Given the description of an element on the screen output the (x, y) to click on. 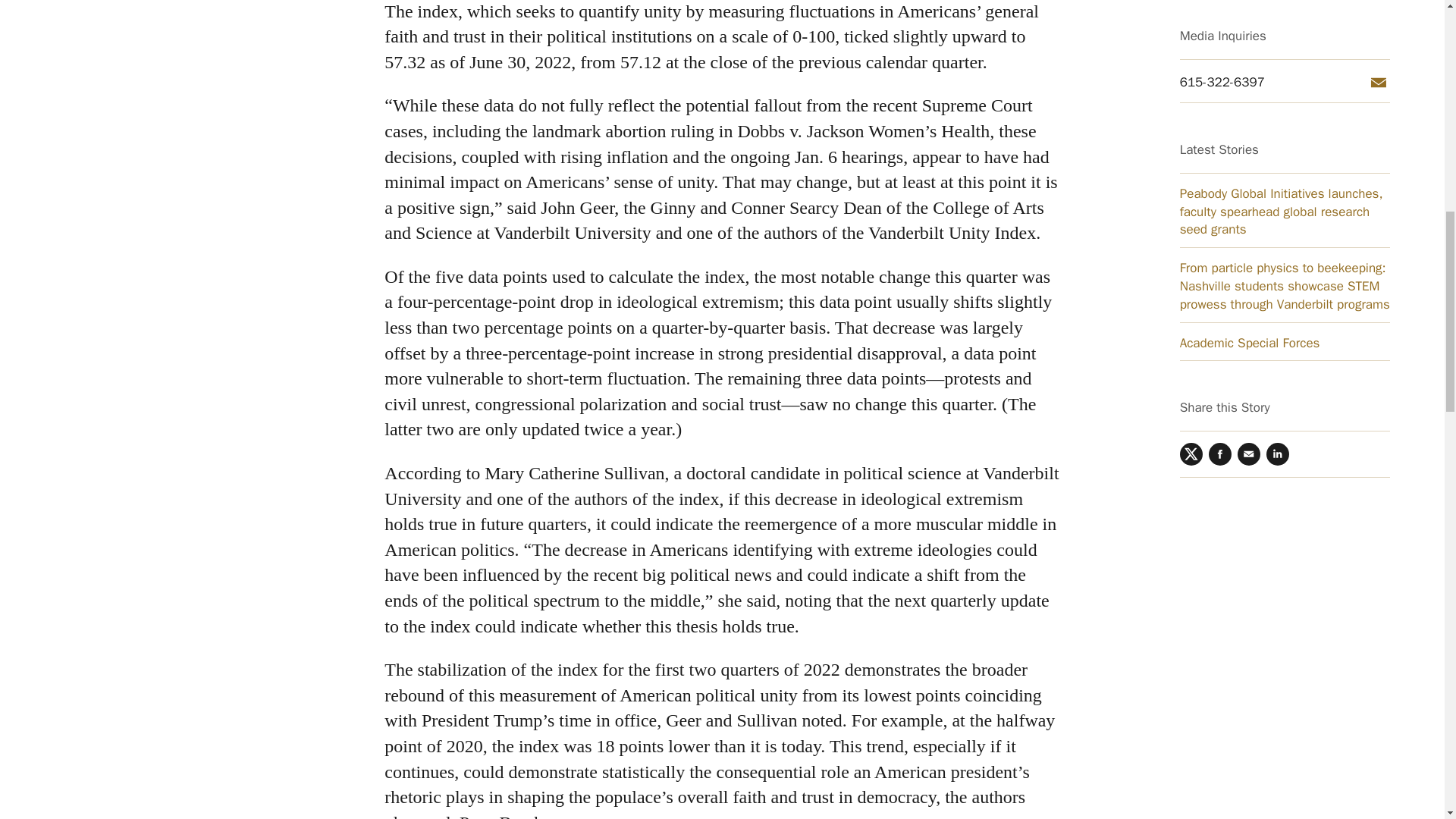
Email (1248, 87)
Facebook (1219, 87)
LinkedIn (1277, 87)
Twitter (1190, 87)
